Given the description of an element on the screen output the (x, y) to click on. 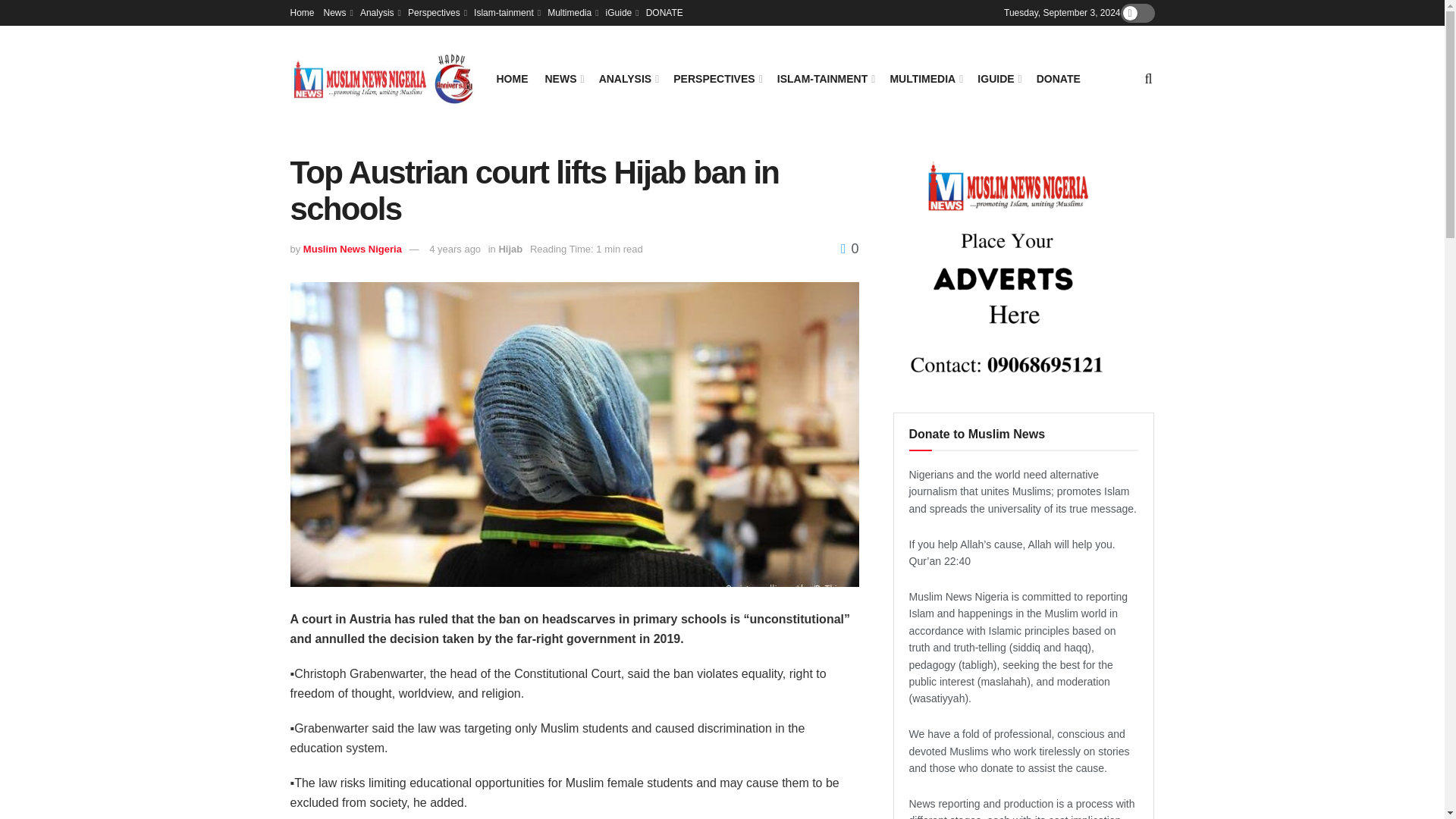
DONATE (664, 12)
iGuide (621, 12)
News (336, 12)
Multimedia (571, 12)
Perspectives (435, 12)
NEWS (562, 78)
Islam-tainment (506, 12)
Home (301, 12)
HOME (511, 78)
Analysis (378, 12)
